Given the description of an element on the screen output the (x, y) to click on. 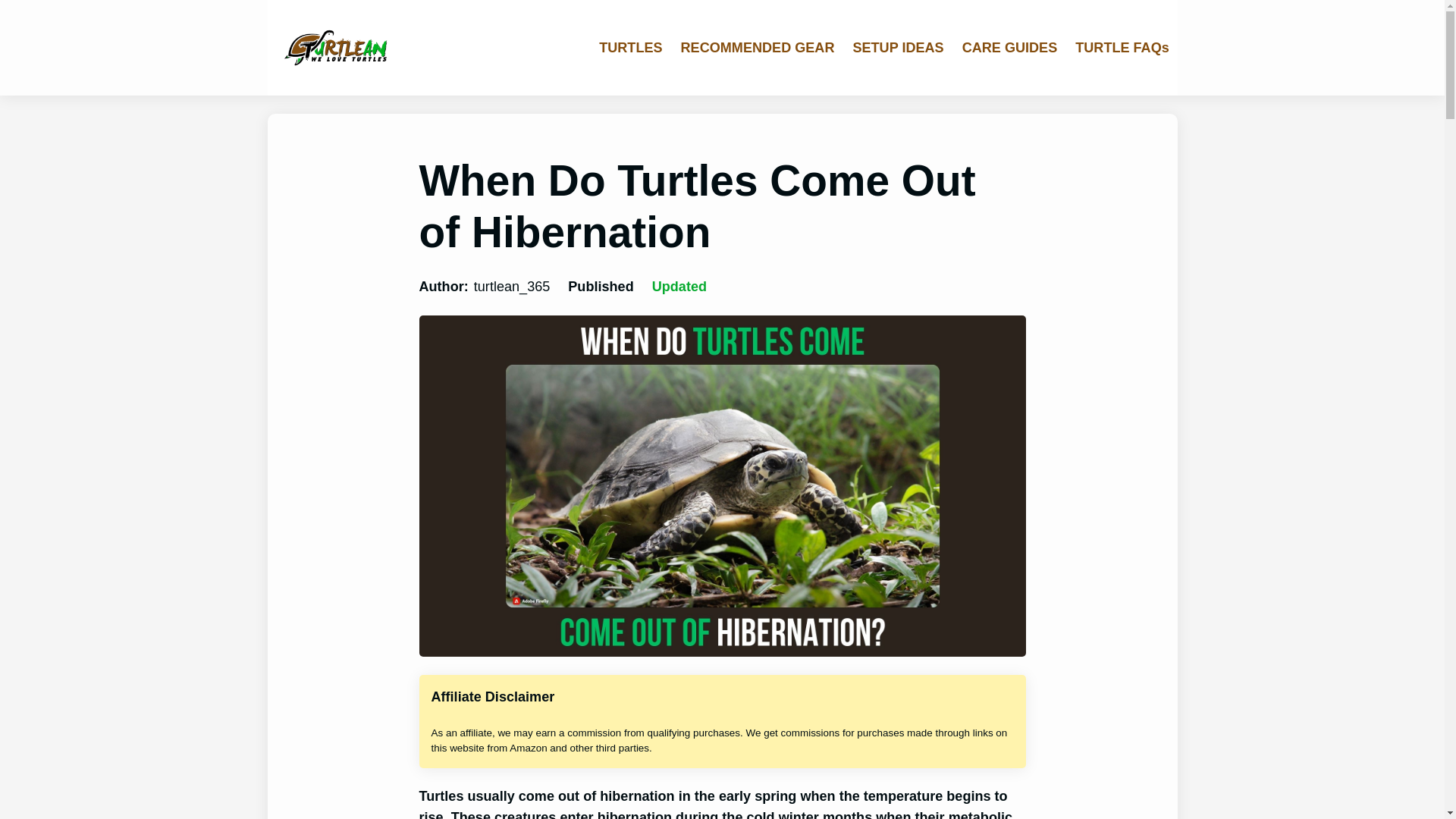
SETUP IDEAS (897, 48)
RECOMMENDED GEAR (757, 48)
TURTLES (630, 48)
TURTLE FAQs (1122, 48)
CARE GUIDES (1010, 48)
